Given the description of an element on the screen output the (x, y) to click on. 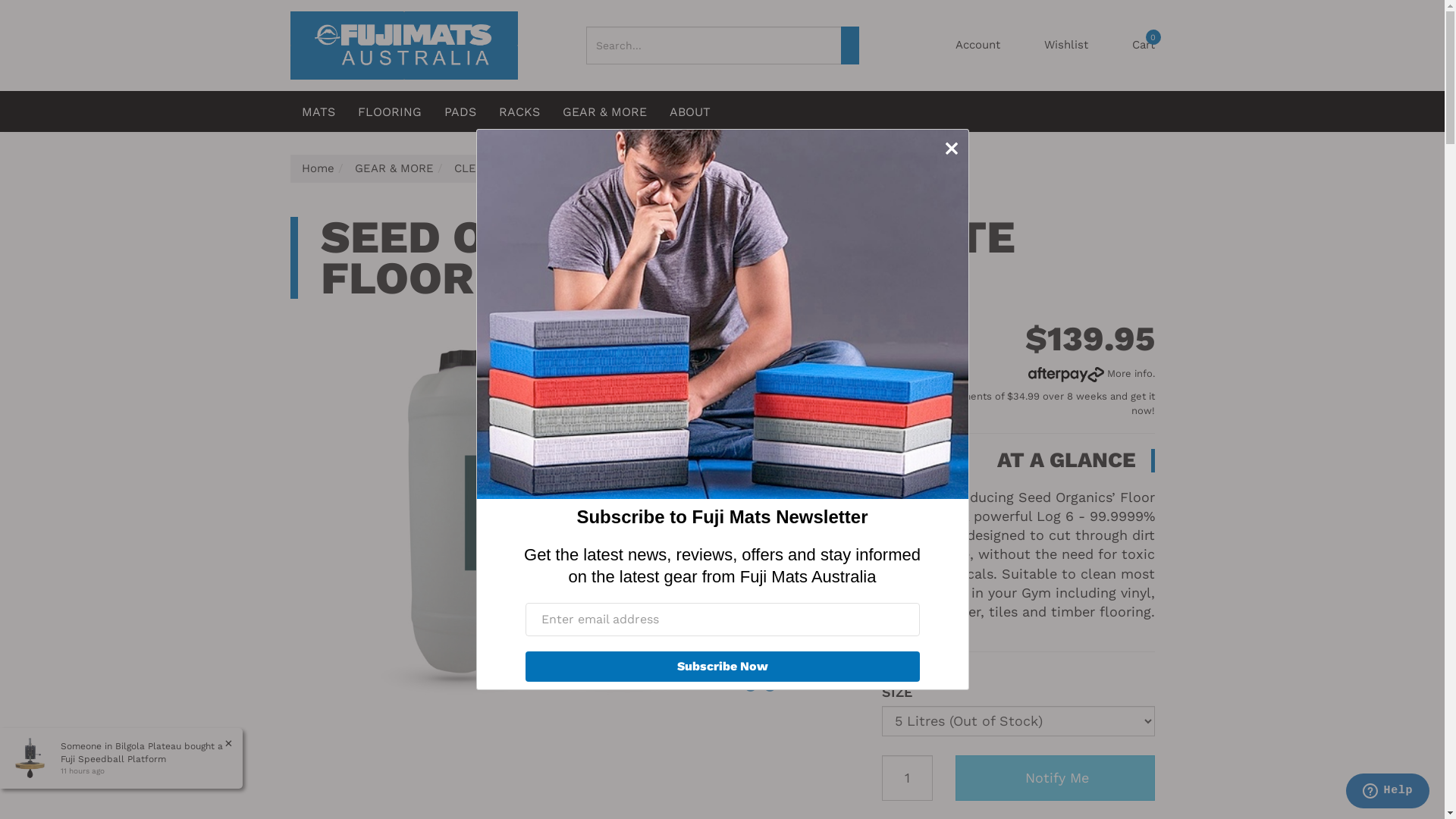
0
Cart Element type: text (1142, 45)
Next Element type: text (769, 685)
Notify Me Element type: text (1054, 777)
FLOORING Element type: text (388, 111)
Account Element type: text (977, 45)
Previous Element type: text (750, 685)
ABOUT Element type: text (689, 111)
Large View Element type: hover (536, 510)
Wishlist Element type: text (1066, 45)
GEAR & MORE Element type: text (603, 111)
RACKS Element type: text (518, 111)
Opens a widget where you can chat to one of our agents Element type: hover (1387, 792)
More info Element type: text (1090, 373)
PADS Element type: text (459, 111)
GEAR & MORE Element type: text (393, 168)
Home Element type: text (317, 168)
CLEANING GEAR Element type: text (499, 168)
MATS Element type: text (317, 111)
Seed Organic Concentrate Floor Cleaner Element type: text (678, 168)
Search Element type: text (849, 45)
Fuji Mats Australia Element type: hover (403, 44)
Fuji Speedball Platform Element type: text (113, 758)
